Given the description of an element on the screen output the (x, y) to click on. 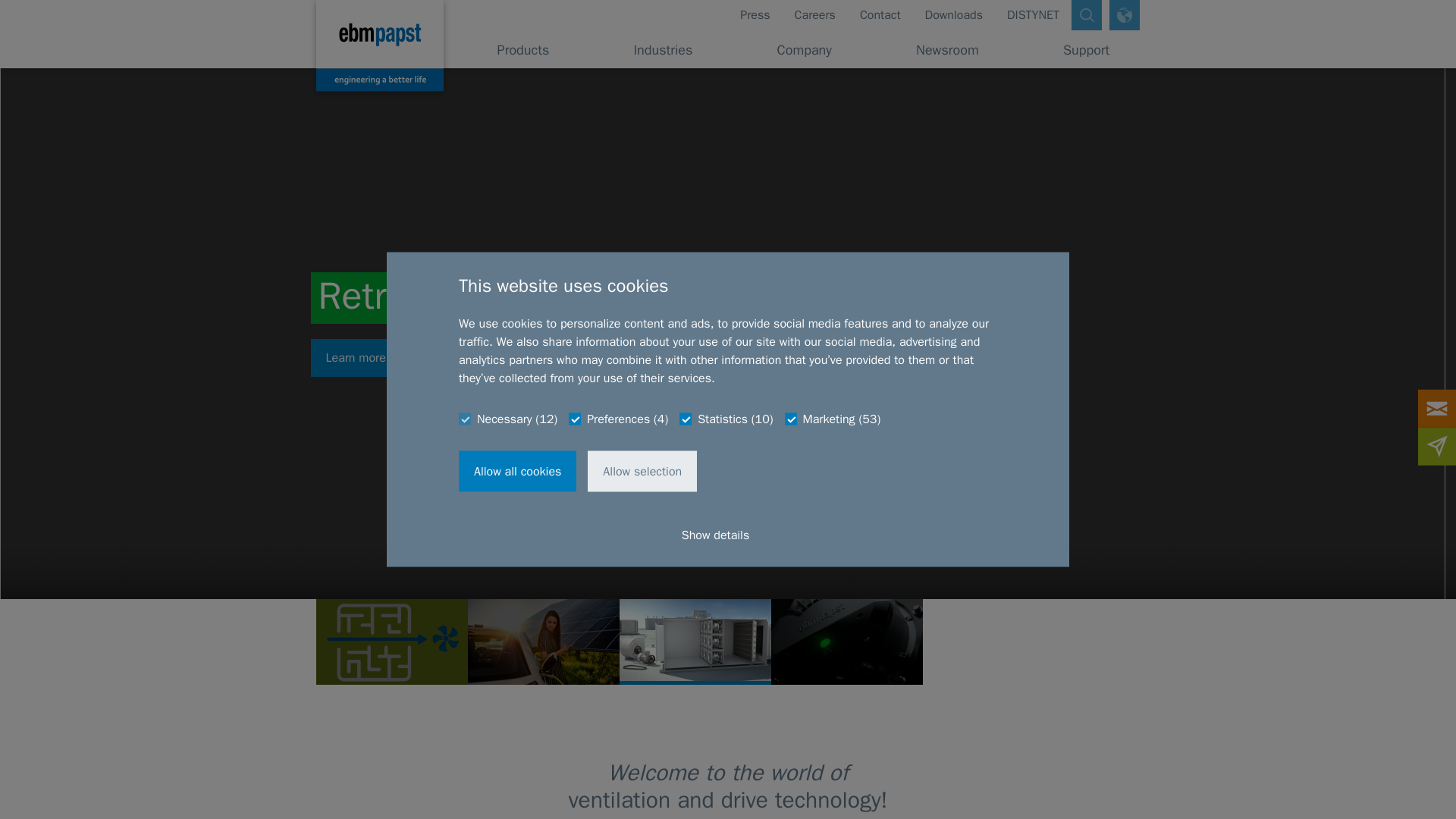
Allow all cookies (517, 470)
Allow selection (642, 470)
Show details (727, 534)
